Given the description of an element on the screen output the (x, y) to click on. 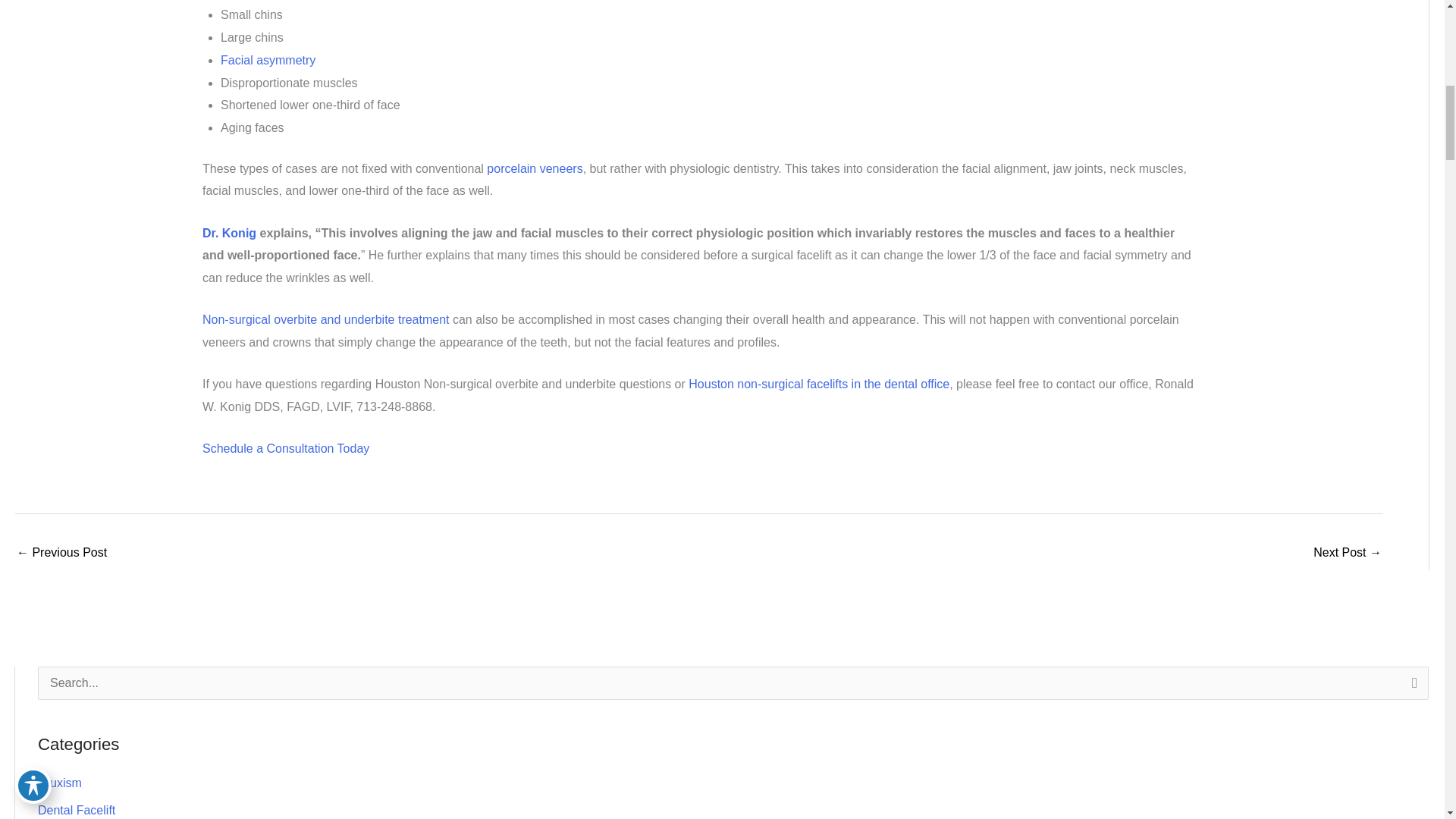
Is Bruxism Affecting You? (1347, 553)
Why are my gums receding? (61, 553)
